Given the description of an element on the screen output the (x, y) to click on. 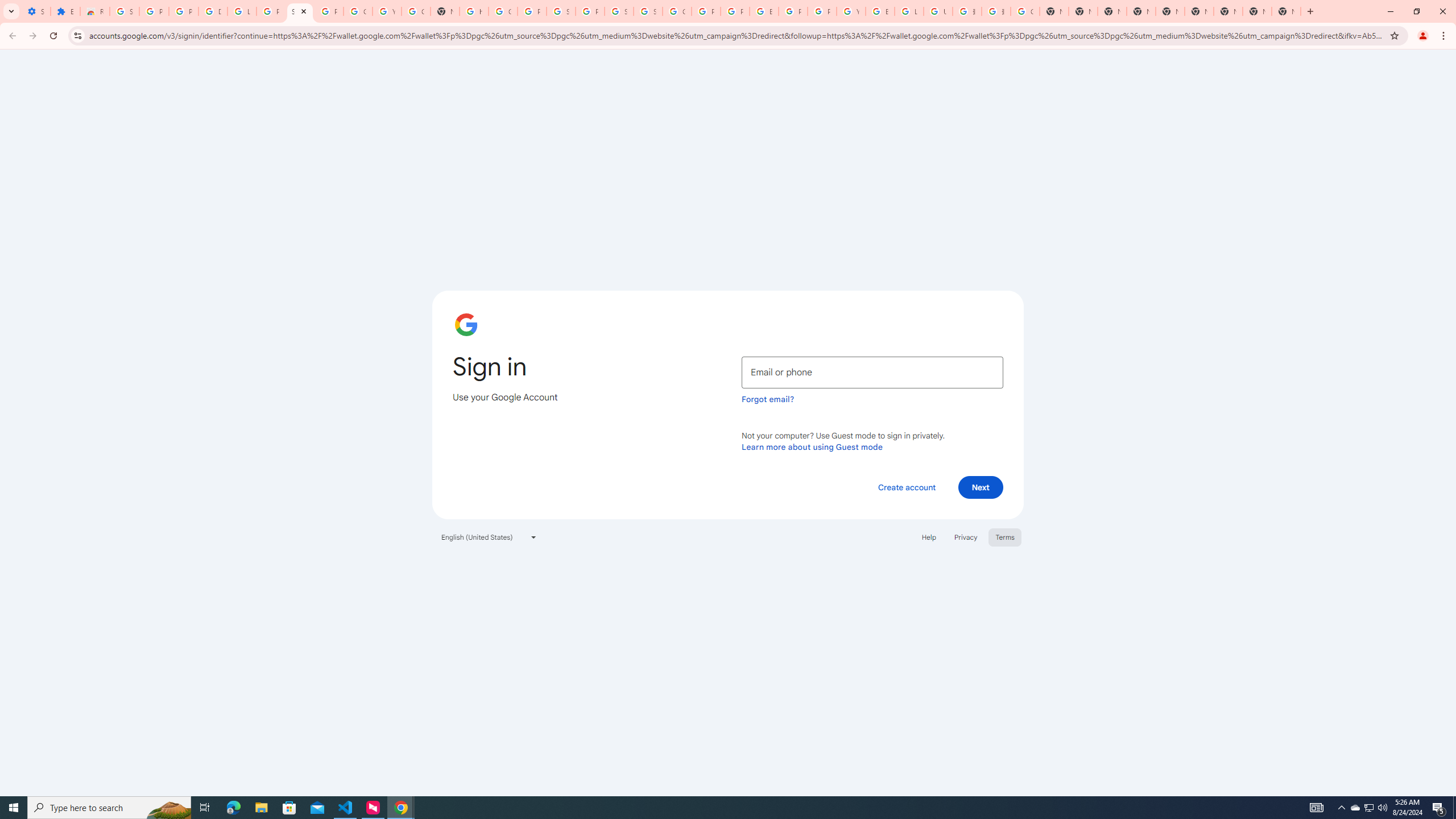
Privacy Help Center - Policies Help (734, 11)
New Tab (1286, 11)
Learn how to find your photos - Google Photos Help (242, 11)
New Tab (1140, 11)
https://scholar.google.com/ (473, 11)
Email or phone (872, 372)
